Given the description of an element on the screen output the (x, y) to click on. 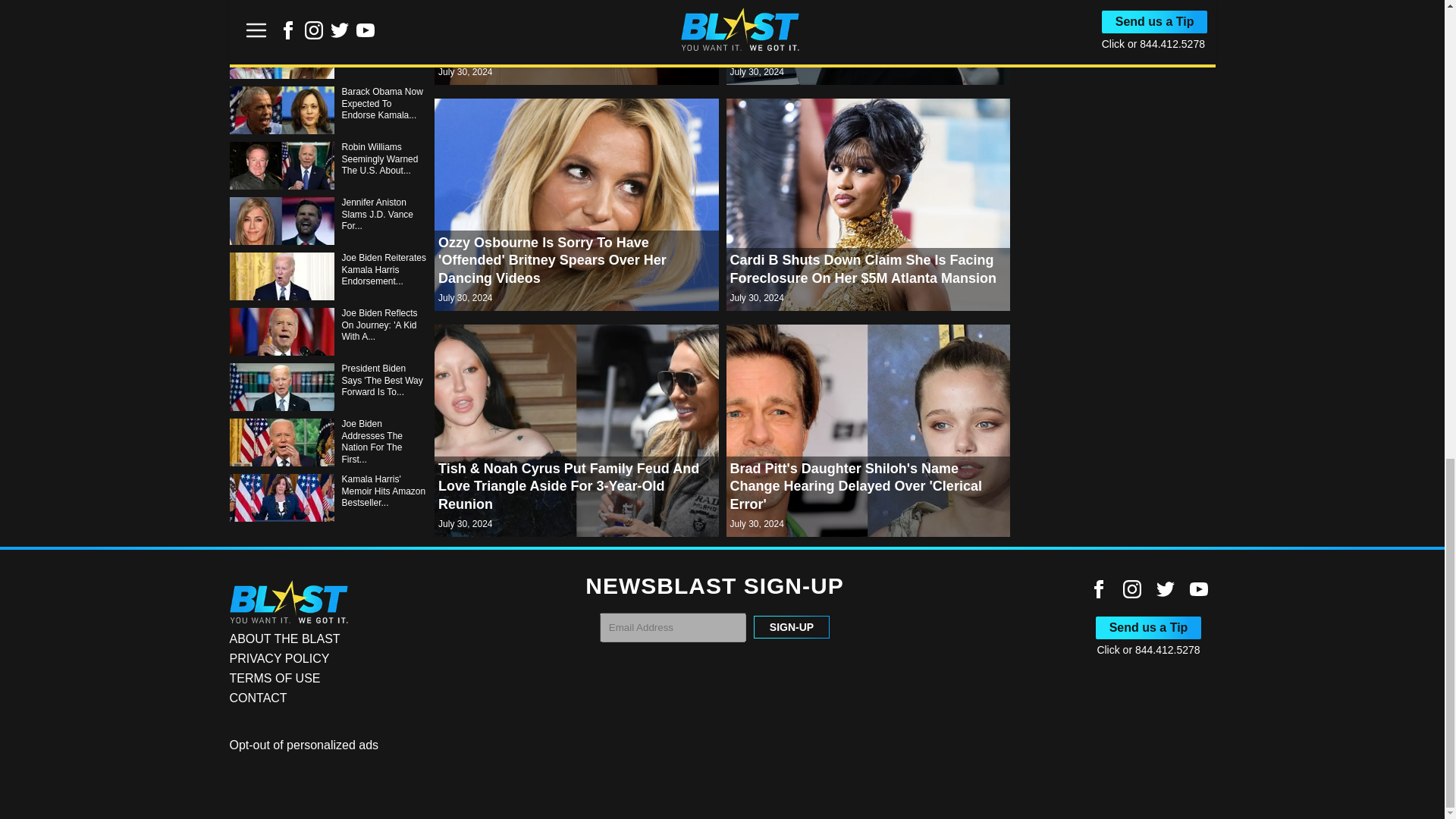
Link to Instagram (1131, 588)
Jennifer Aniston Slams J.D. Vance For... (327, 220)
President Biden Says 'The Best Way Forward Is To... (327, 387)
Barack Obama Now Expected To Endorse Kamala... (327, 110)
Link to Facebook (1097, 588)
Dr. Jill Biden Releases Letter Thanking... (327, 11)
Joe Biden Reiterates Kamala Harris Endorsement... (327, 276)
Link to Youtube (1198, 588)
Robin Williams Seemingly Warned The U.S. About... (327, 165)
SIGN-UP (791, 626)
Why Kamala Harris Is Being Dubbed The 'Original... (327, 54)
Link to Twitter (1164, 588)
Joe Biden Reflects On Journey: 'A Kid With A... (327, 331)
